Given the description of an element on the screen output the (x, y) to click on. 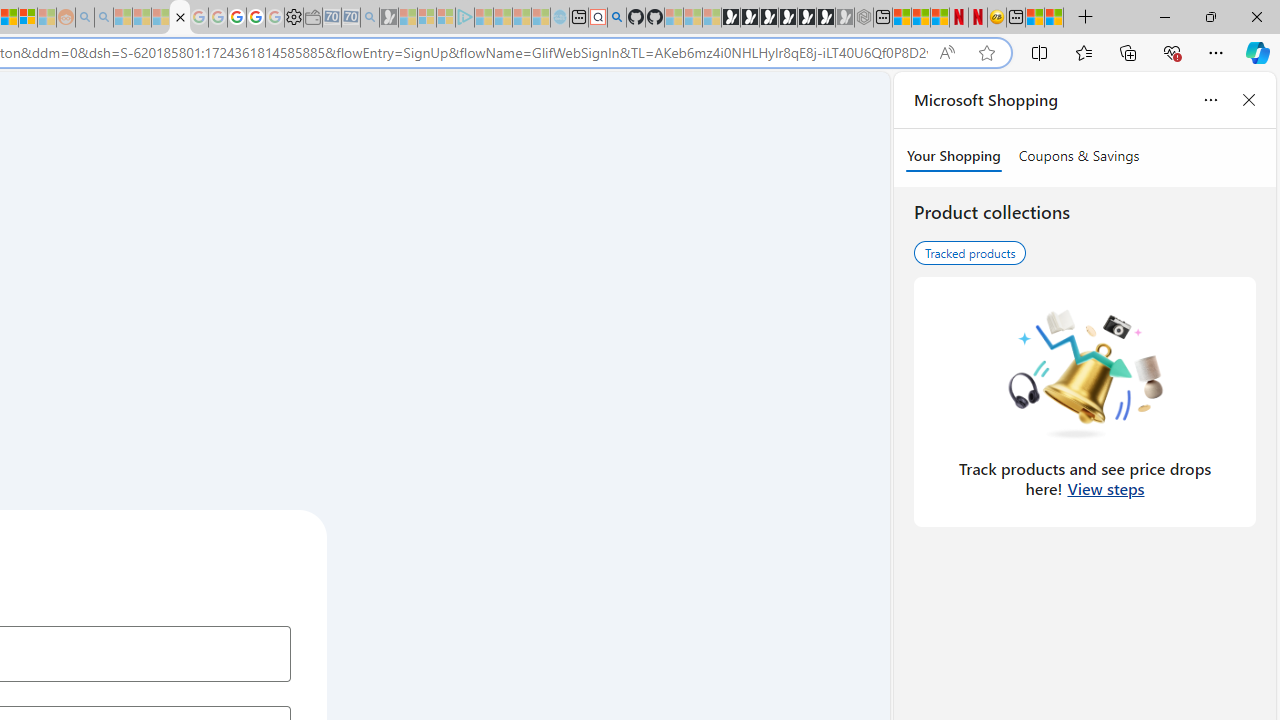
Play Cave FRVR in your browser | Games from Microsoft Start (769, 17)
Bing Real Estate - Home sales and rental listings - Sleeping (369, 17)
Wallet - Sleeping (312, 17)
Play Free Online Games | Games from Microsoft Start (730, 17)
